Given the description of an element on the screen output the (x, y) to click on. 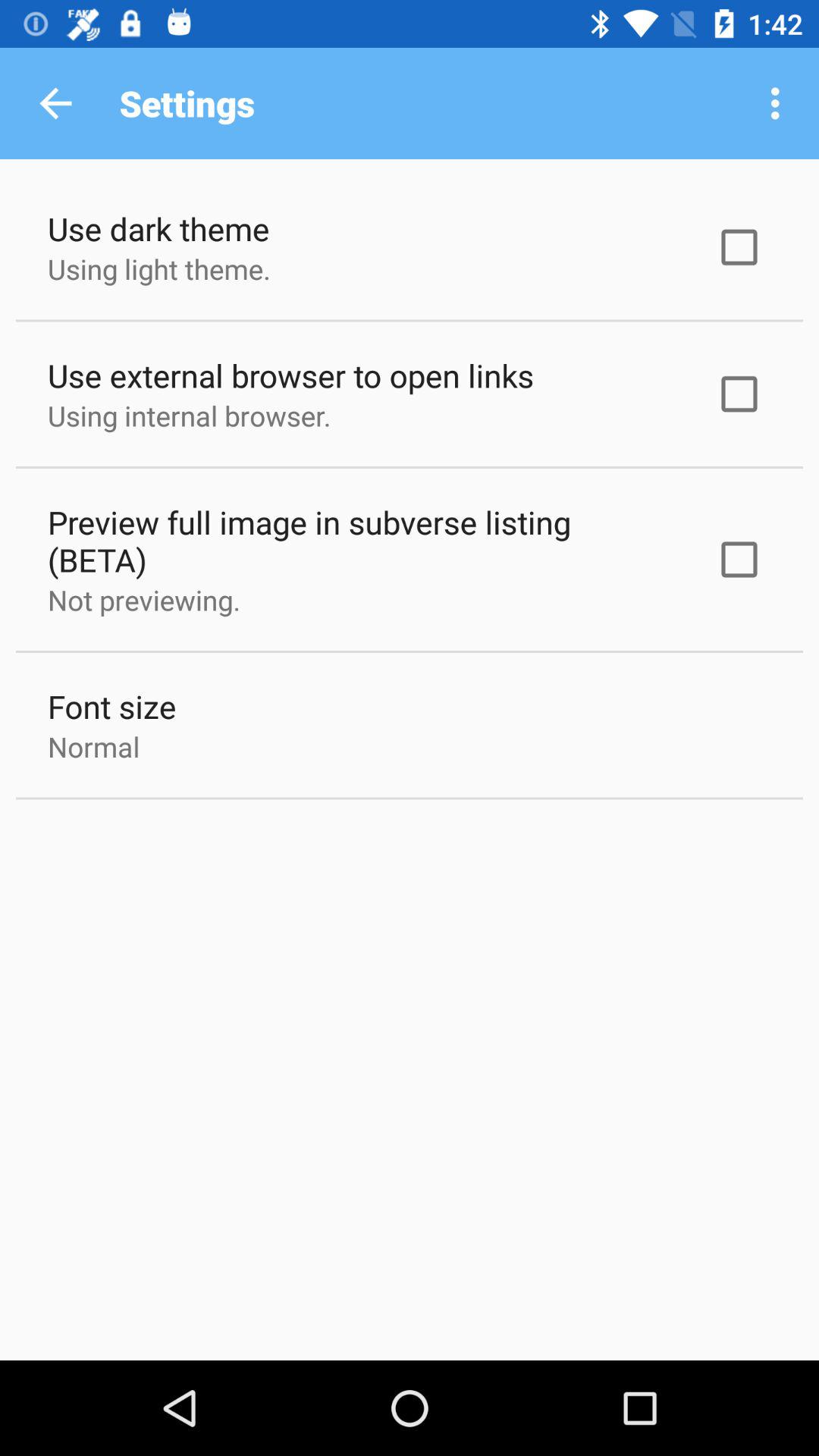
scroll to use dark theme item (158, 228)
